Given the description of an element on the screen output the (x, y) to click on. 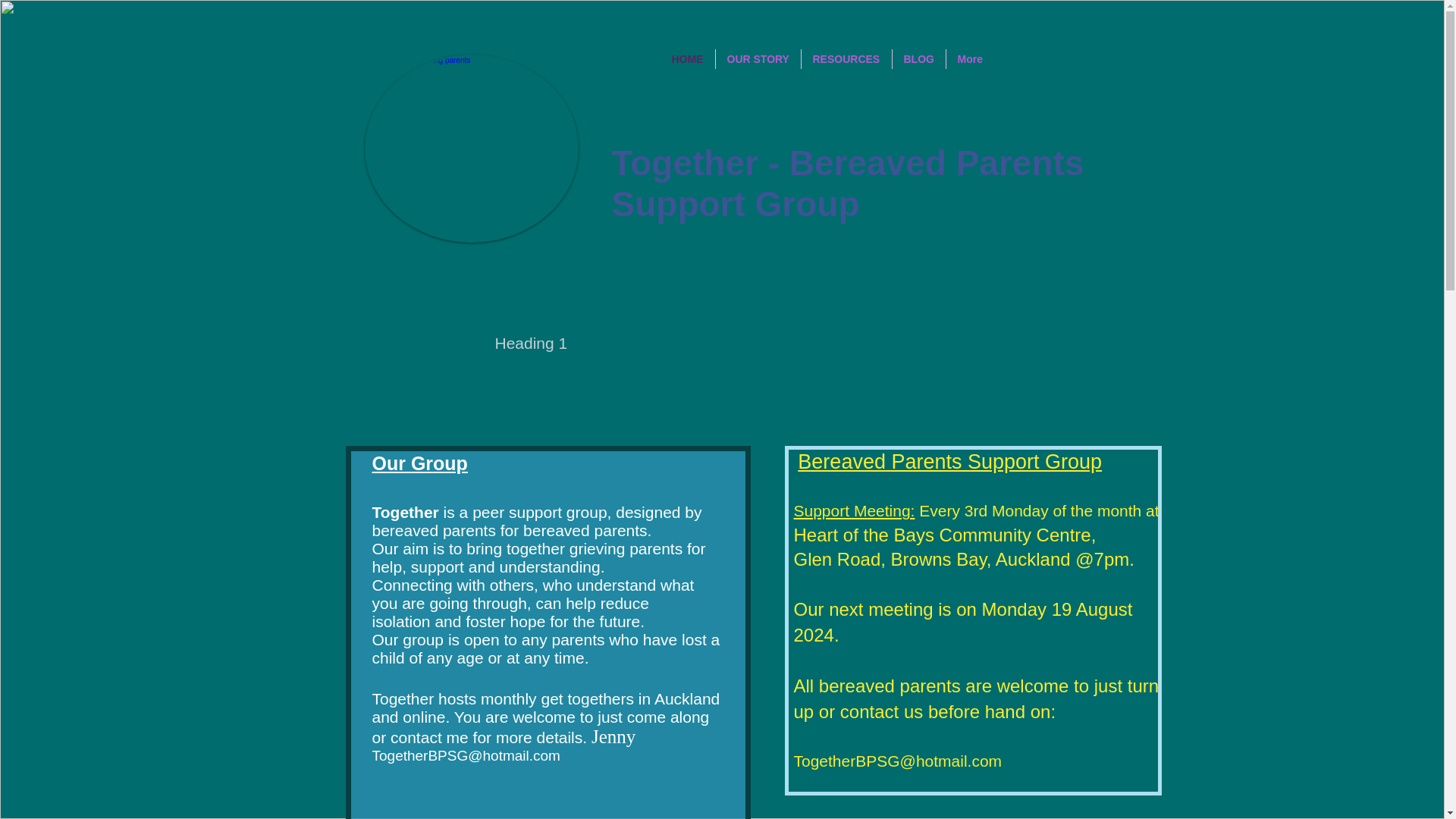
OUR STORY (758, 58)
RESOURCES (845, 58)
BLOG (917, 58)
HOME (686, 58)
